Given the description of an element on the screen output the (x, y) to click on. 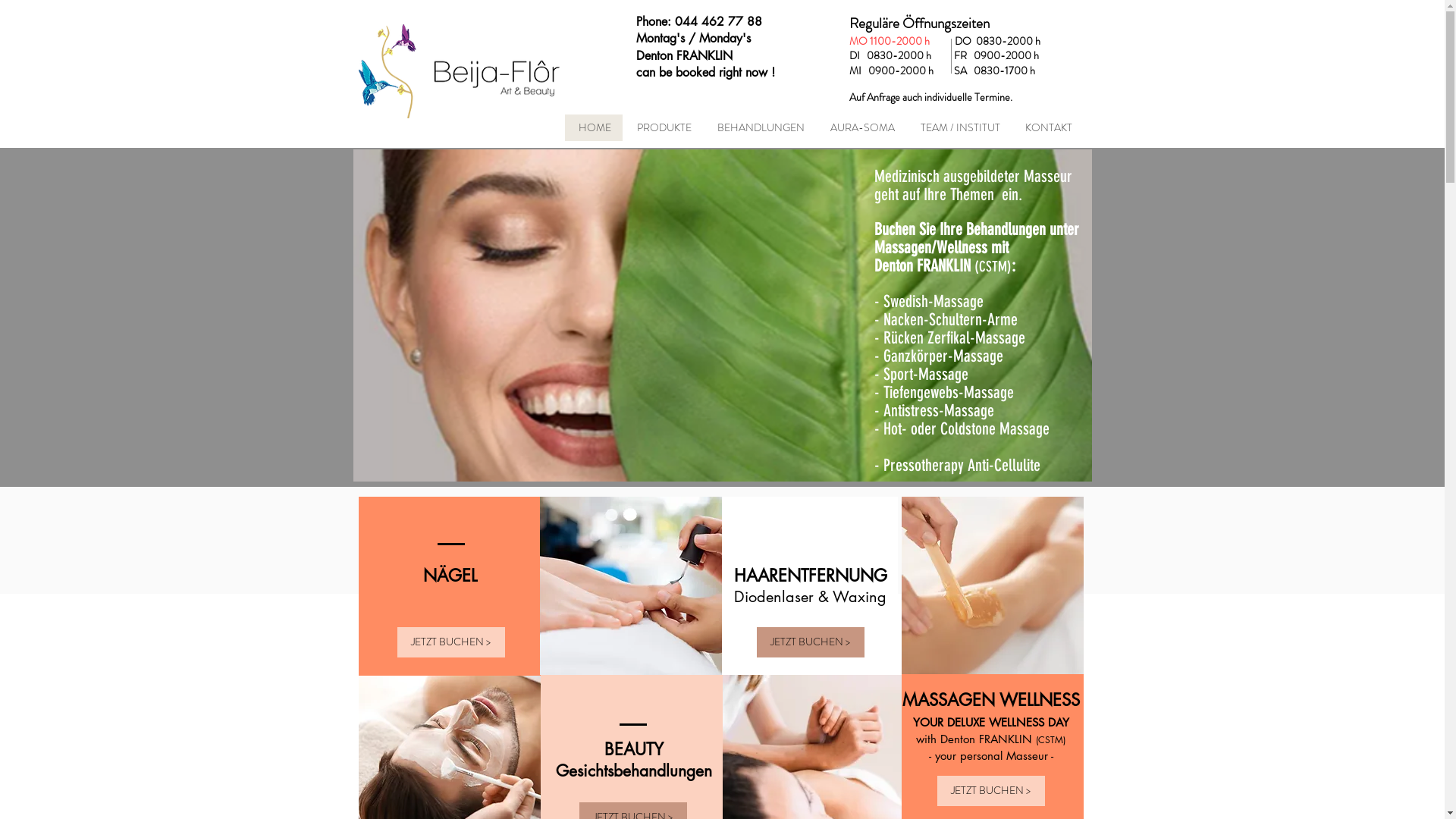
Visitor Analytics Element type: hover (1442, 4)
HOME Element type: text (592, 127)
JETZT BUCHEN > Element type: text (451, 642)
AURA-SOMA Element type: text (860, 127)
BEHANDLUNGEN Element type: text (758, 127)
KONTAKT Element type: text (1047, 127)
JETZT BUCHEN > Element type: text (810, 642)
PRODUKTE Element type: text (661, 127)
JETZT BUCHEN > Element type: text (990, 790)
TEAM / INSTITUT Element type: text (957, 127)
